Given the description of an element on the screen output the (x, y) to click on. 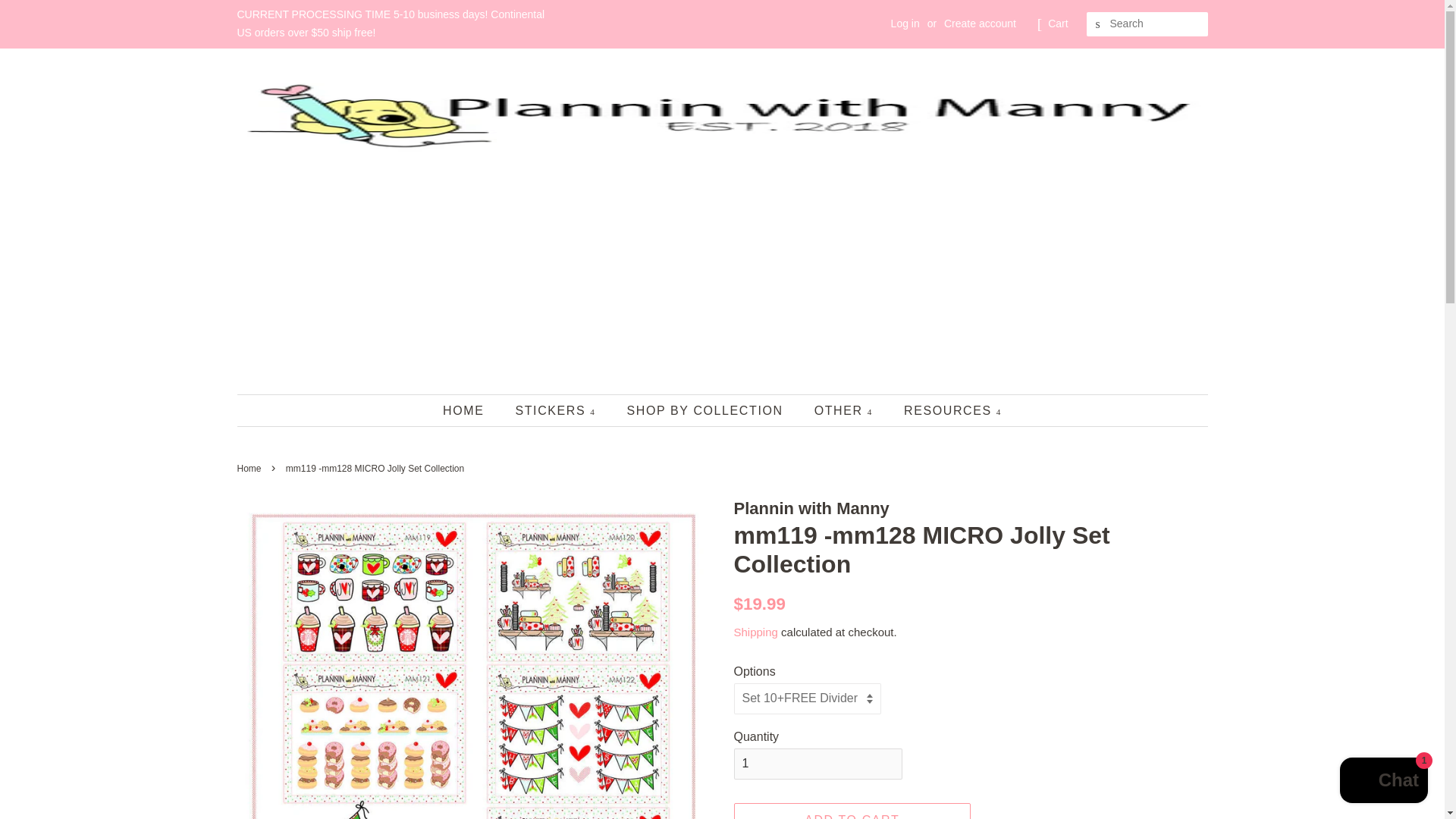
Cart (1057, 24)
Shopify online store chat (1383, 781)
Create account (979, 23)
Back to the frontpage (249, 468)
SEARCH (1097, 24)
1 (817, 763)
Log in (905, 23)
